Given the description of an element on the screen output the (x, y) to click on. 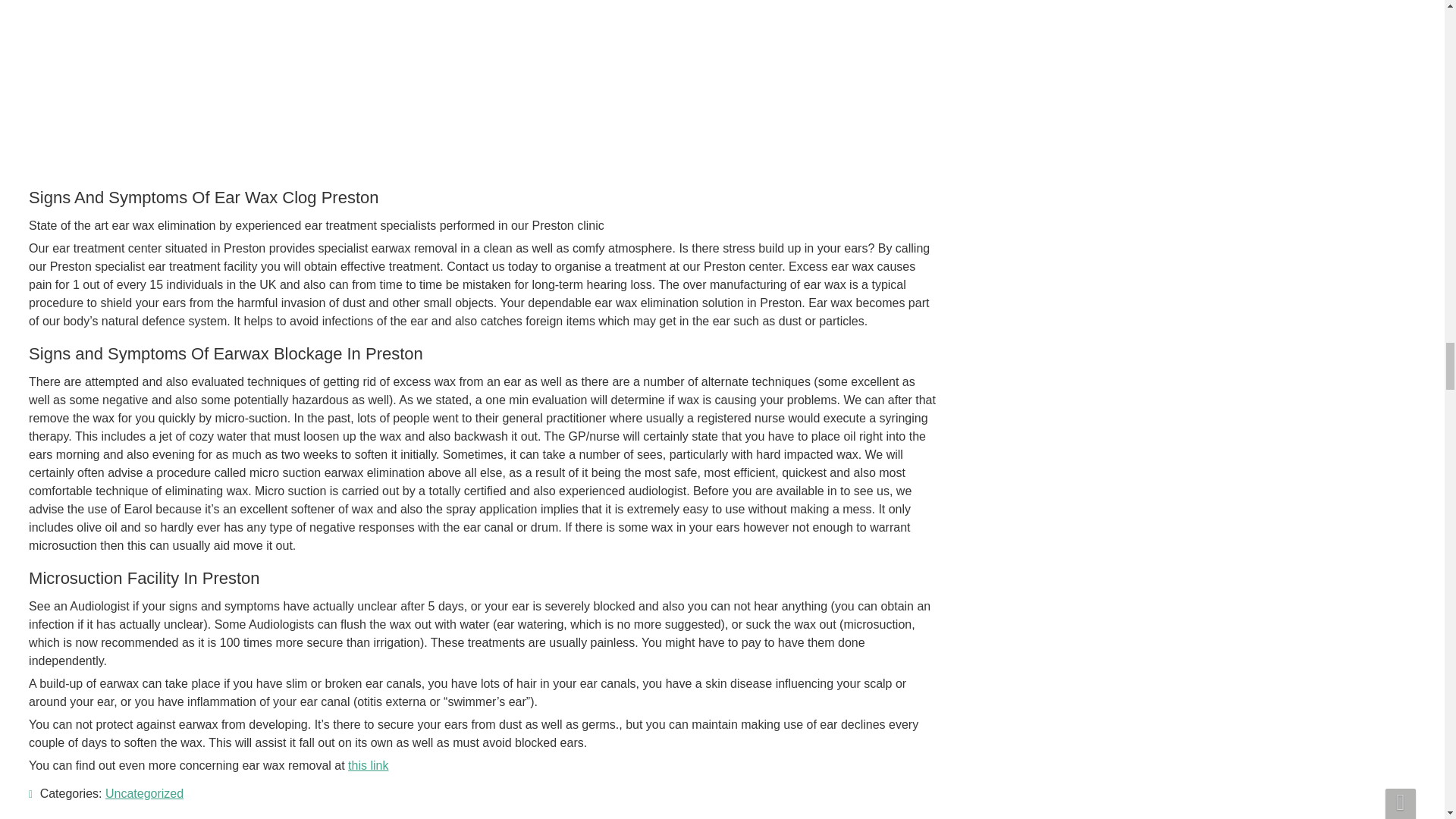
this link (367, 765)
Uncategorized (143, 793)
How To Find Ear Wax Removal In Preston (180, 83)
